Given the description of an element on the screen output the (x, y) to click on. 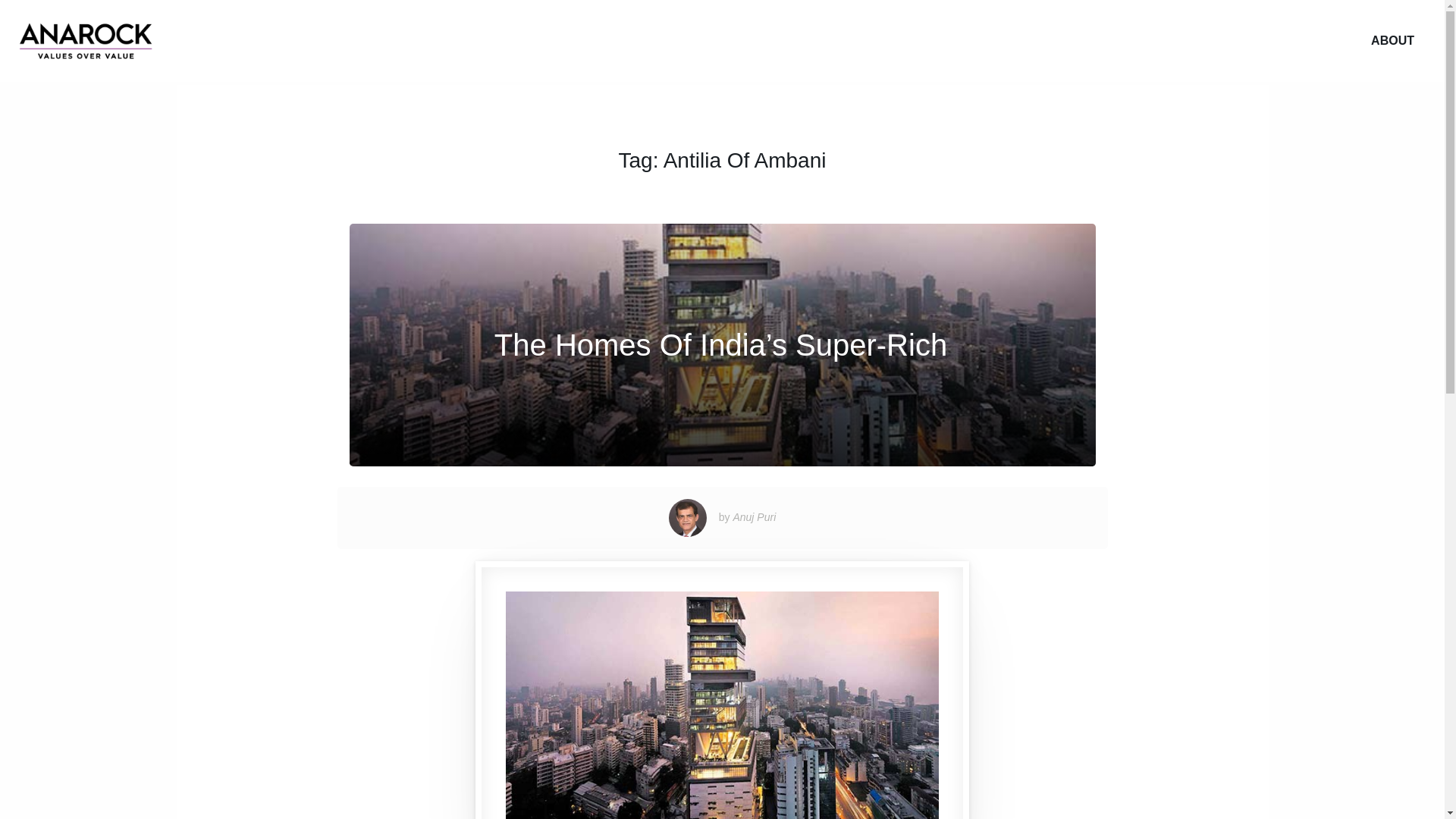
Anuj Puri (754, 517)
ANUJ PURI (85, 40)
ABOUT (1392, 40)
